Given the description of an element on the screen output the (x, y) to click on. 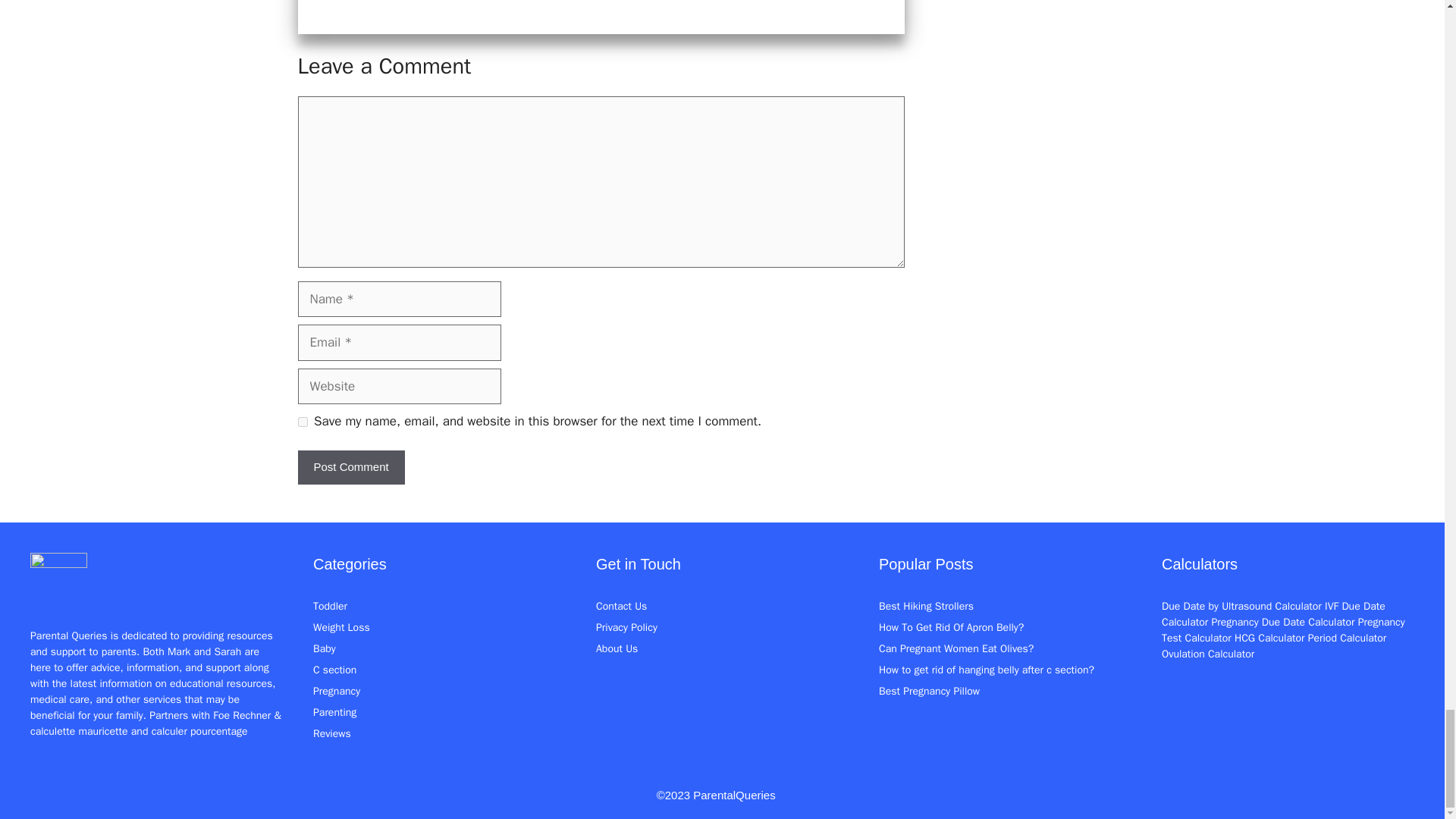
Post Comment (350, 467)
yes (302, 421)
